Given the description of an element on the screen output the (x, y) to click on. 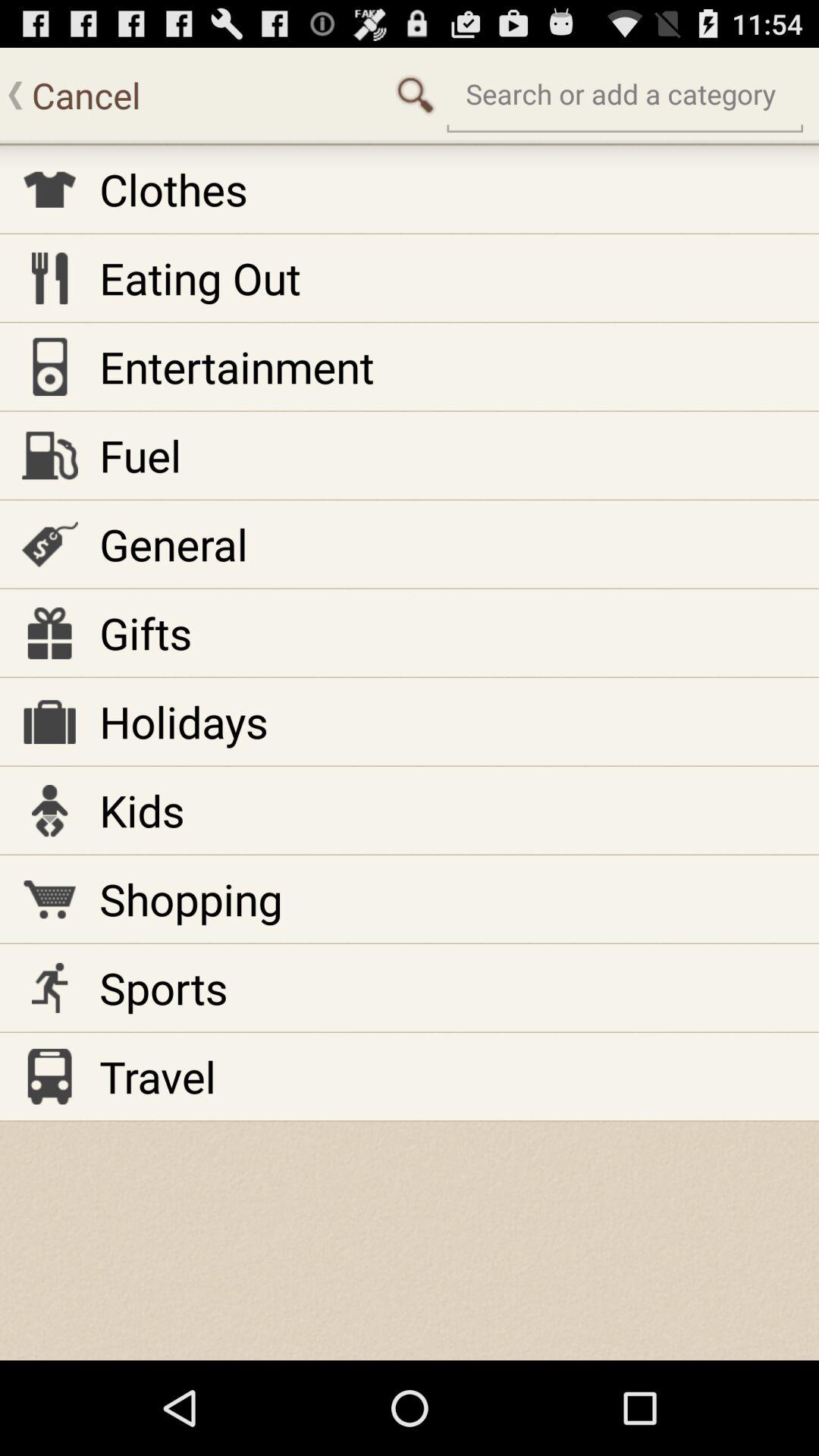
click icon above the kids app (183, 721)
